Given the description of an element on the screen output the (x, y) to click on. 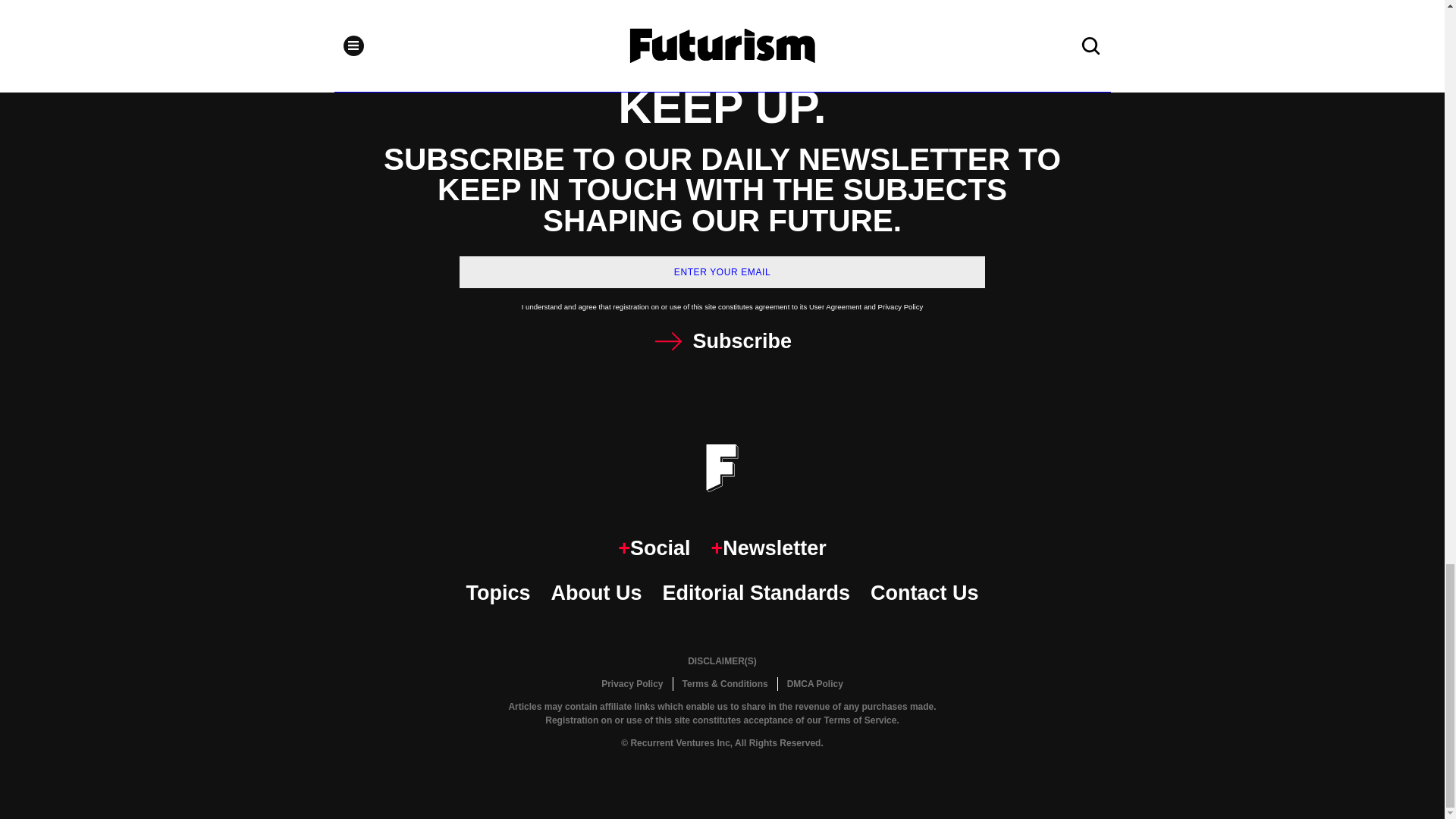
DMCA Policy (814, 684)
Editorial Standards (756, 593)
Privacy Policy (631, 684)
Subscribe (722, 341)
Contact Us (924, 593)
Topics (497, 593)
About Us (596, 593)
